Given the description of an element on the screen output the (x, y) to click on. 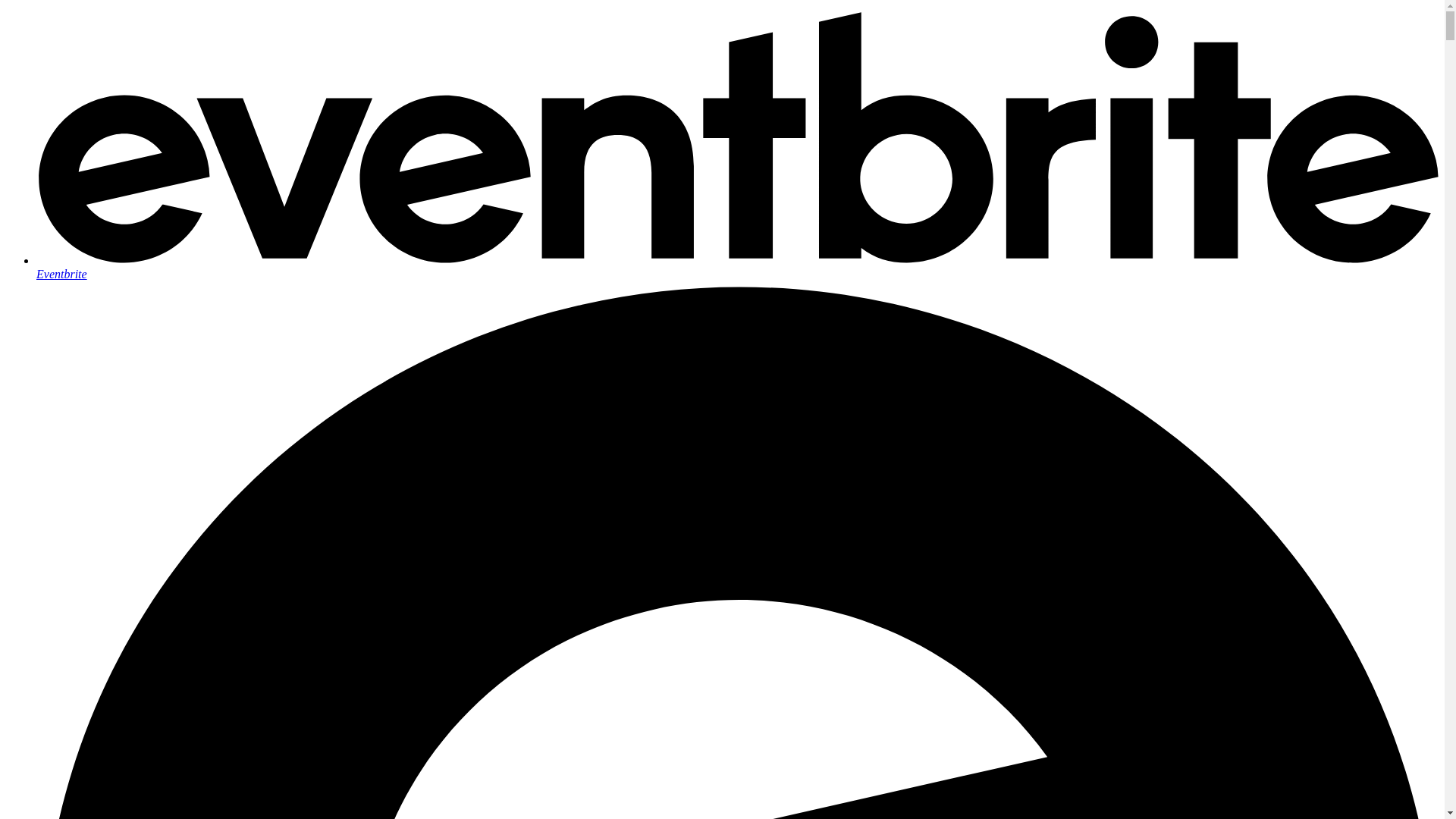
Eventbrite Element type: text (737, 267)
